Given the description of an element on the screen output the (x, y) to click on. 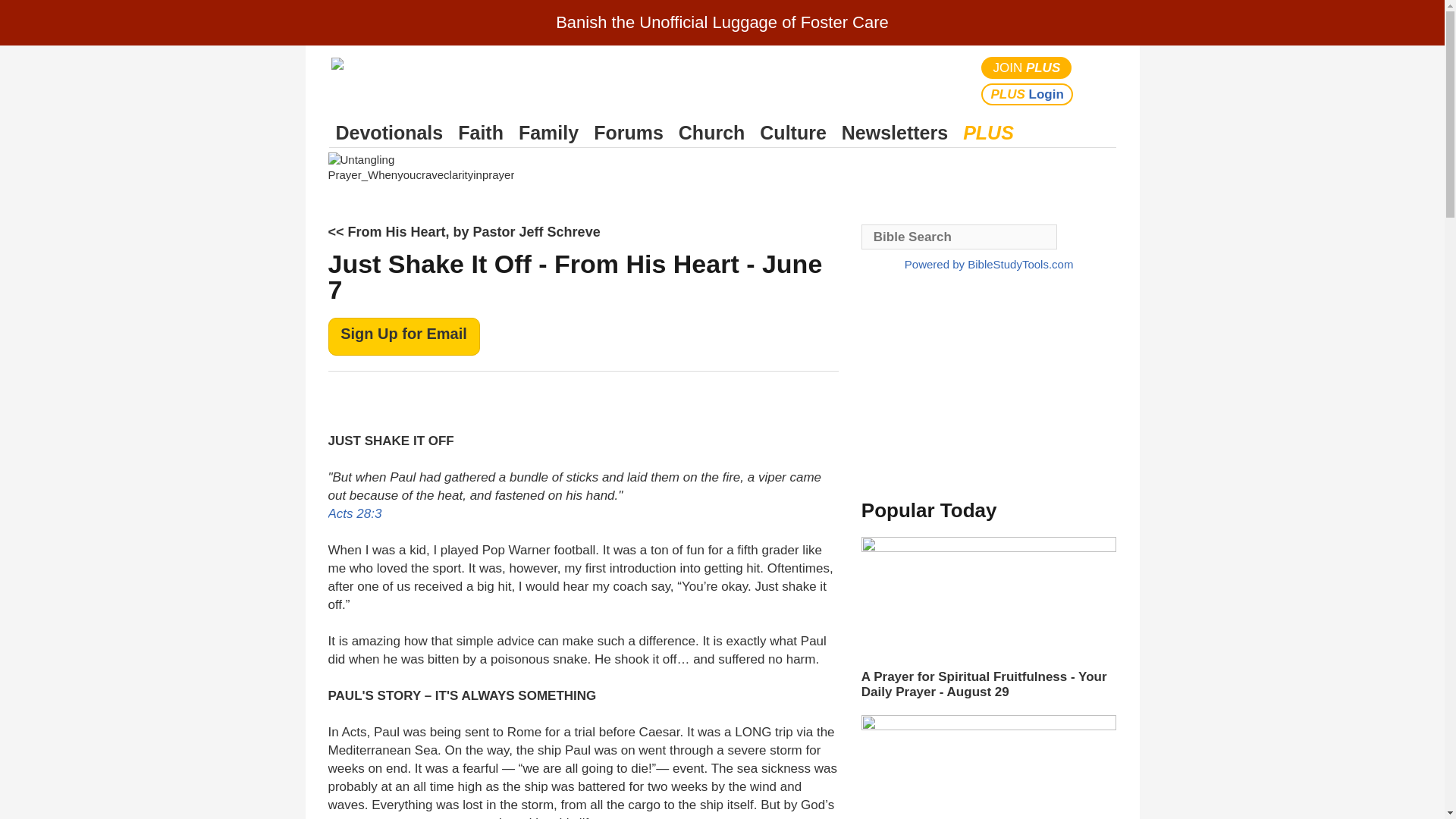
Search (1101, 80)
Join Plus (1026, 67)
JOIN PLUS (1026, 67)
Plus Login (1026, 94)
Faith (481, 132)
PLUS Login (1026, 94)
Devotionals (389, 132)
